Given the description of an element on the screen output the (x, y) to click on. 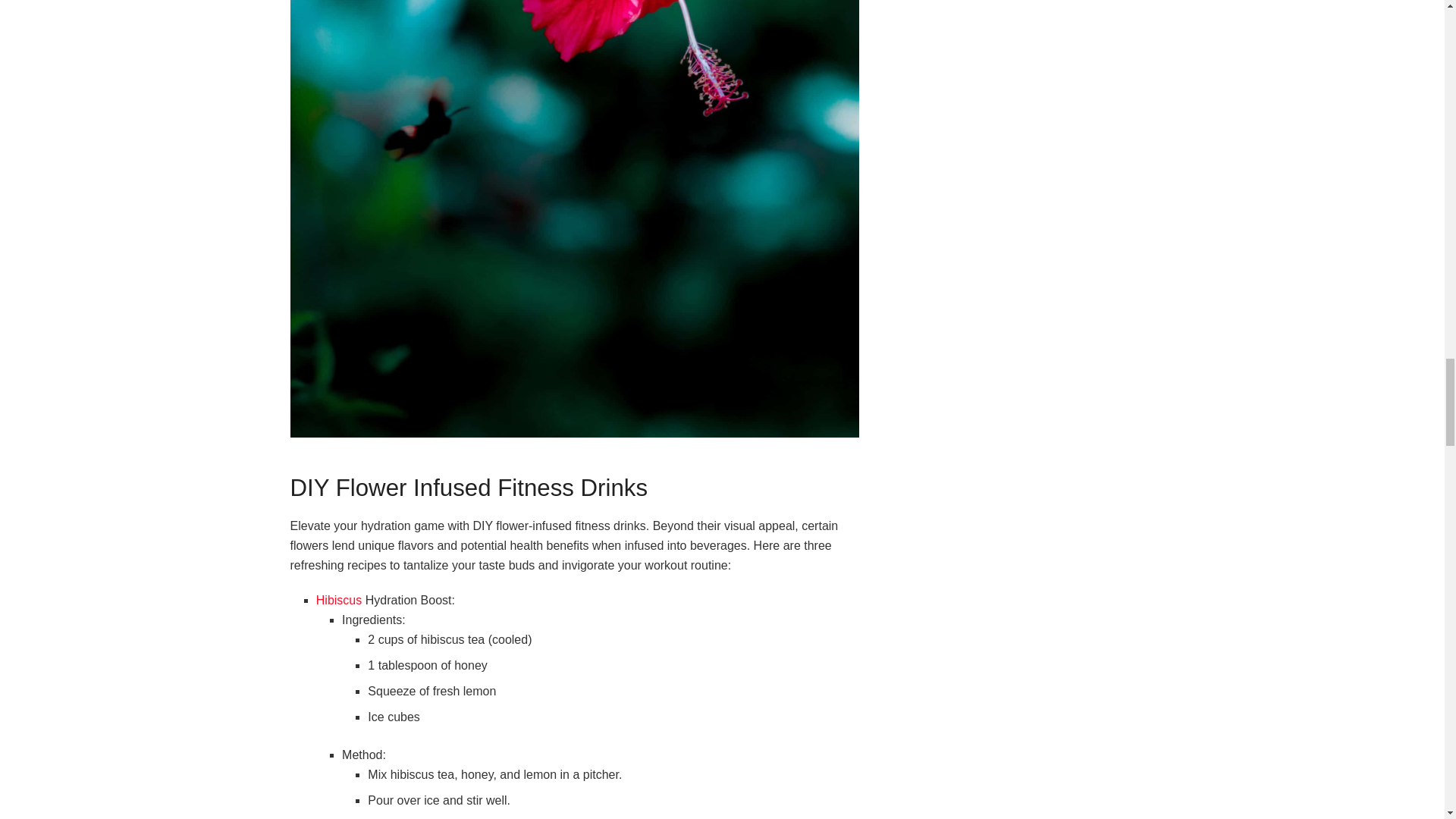
Hibiscus (338, 599)
